Given the description of an element on the screen output the (x, y) to click on. 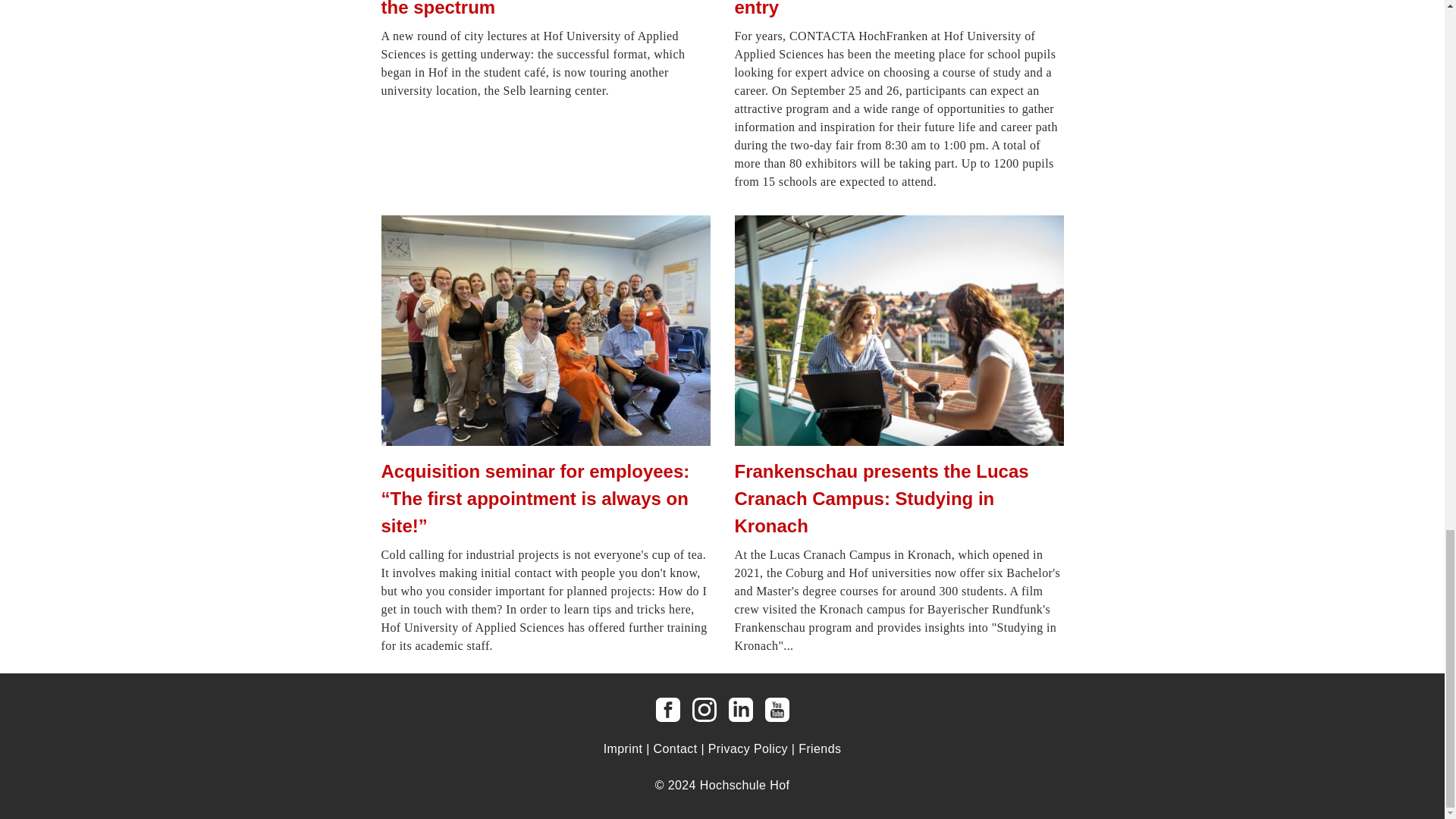
Imprint (623, 748)
Privacy Policy (747, 748)
Contact (675, 748)
